Given the description of an element on the screen output the (x, y) to click on. 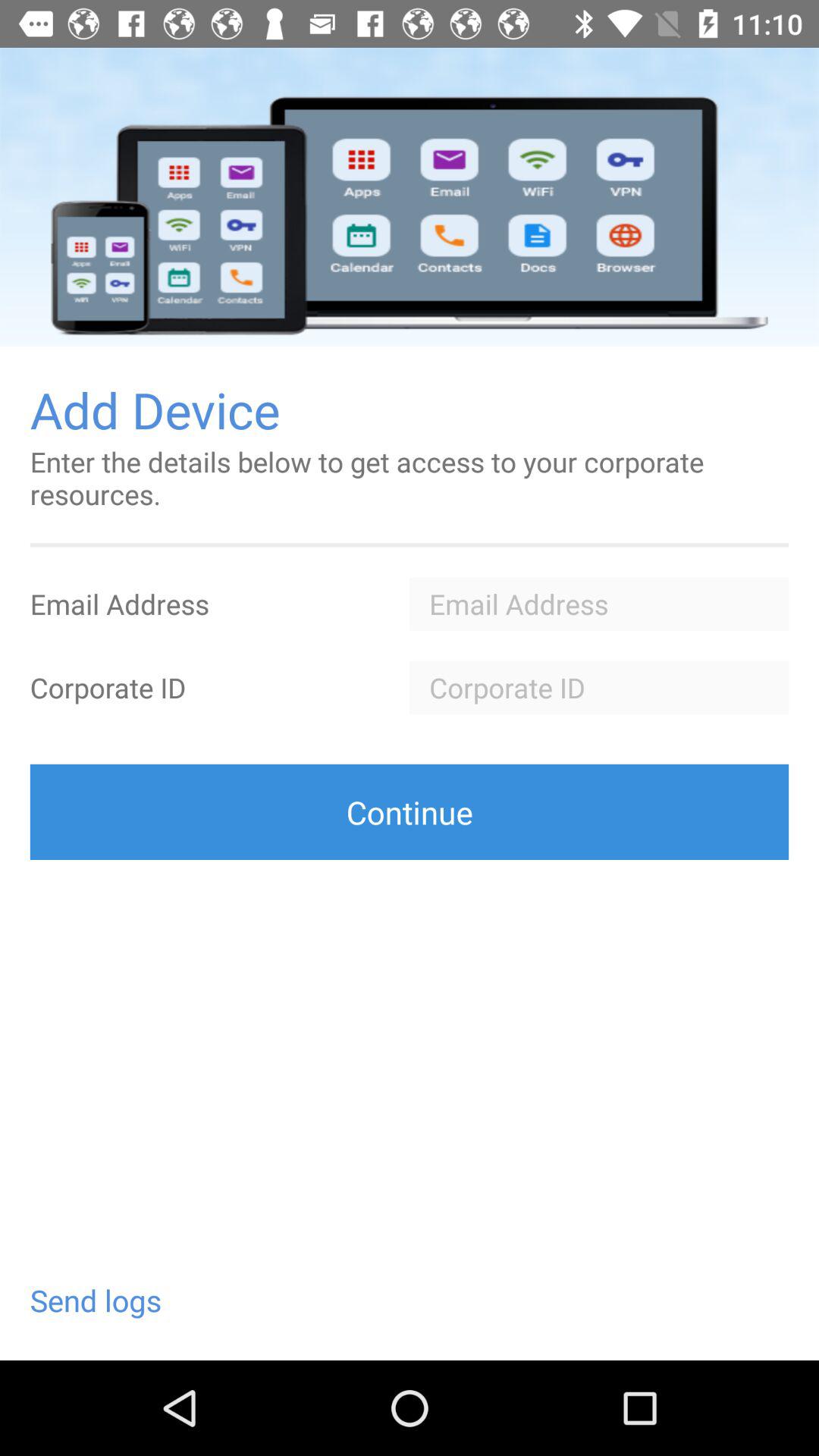
choose the enter the details (409, 478)
